Given the description of an element on the screen output the (x, y) to click on. 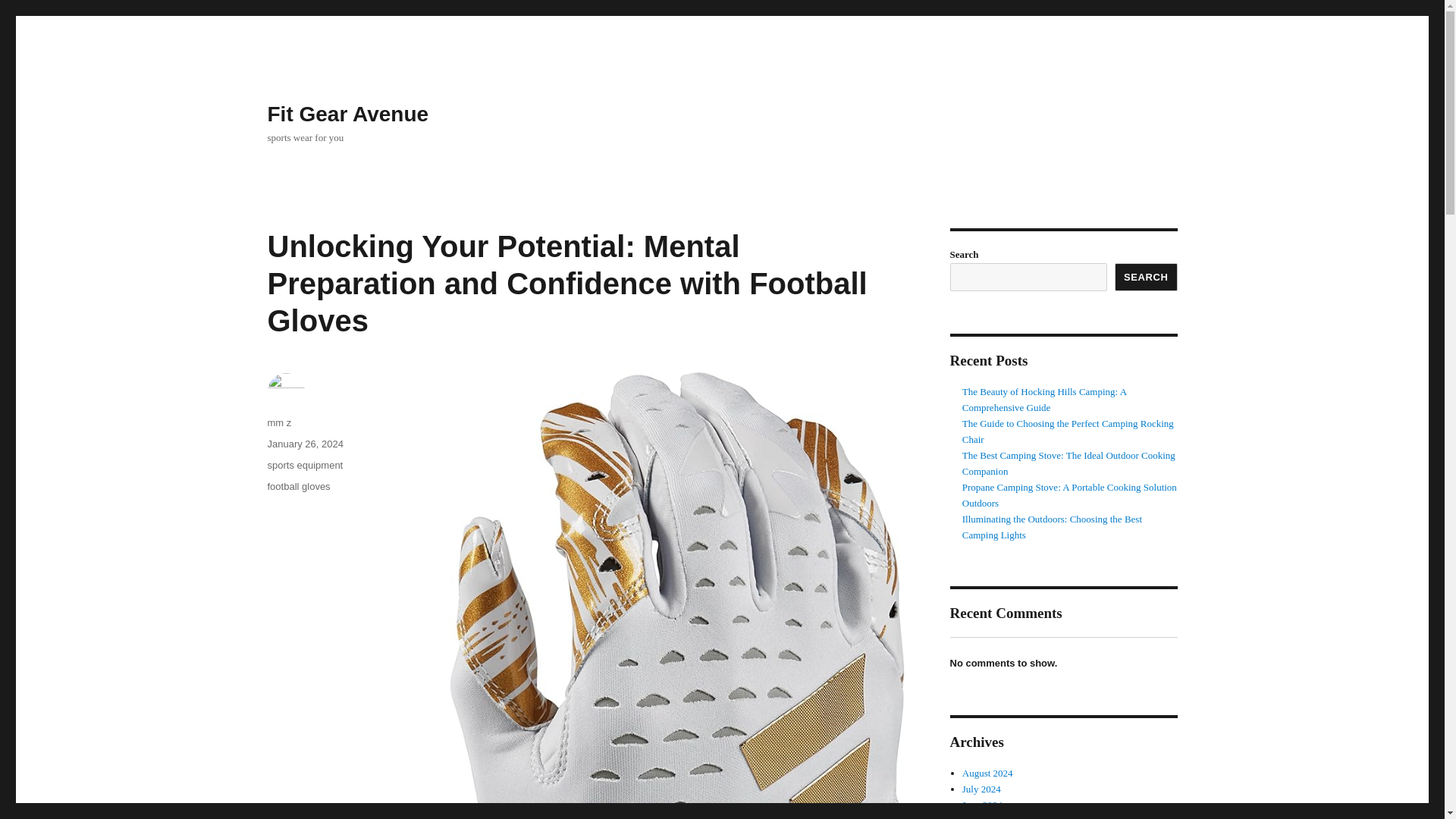
Fit Gear Avenue (347, 114)
The Beauty of Hocking Hills Camping: A Comprehensive Guide (1044, 399)
SEARCH (1146, 276)
football gloves (298, 486)
Illuminating the Outdoors: Choosing the Best Camping Lights (1051, 526)
sports equipment (304, 464)
The Best Camping Stove: The Ideal Outdoor Cooking Companion (1068, 462)
The Guide to Choosing the Perfect Camping Rocking Chair (1067, 431)
May 2024 (982, 816)
July 2024 (981, 788)
Propane Camping Stove: A Portable Cooking Solution Outdoors (1069, 494)
January 26, 2024 (304, 443)
June 2024 (982, 804)
August 2024 (987, 772)
mm z (278, 422)
